Given the description of an element on the screen output the (x, y) to click on. 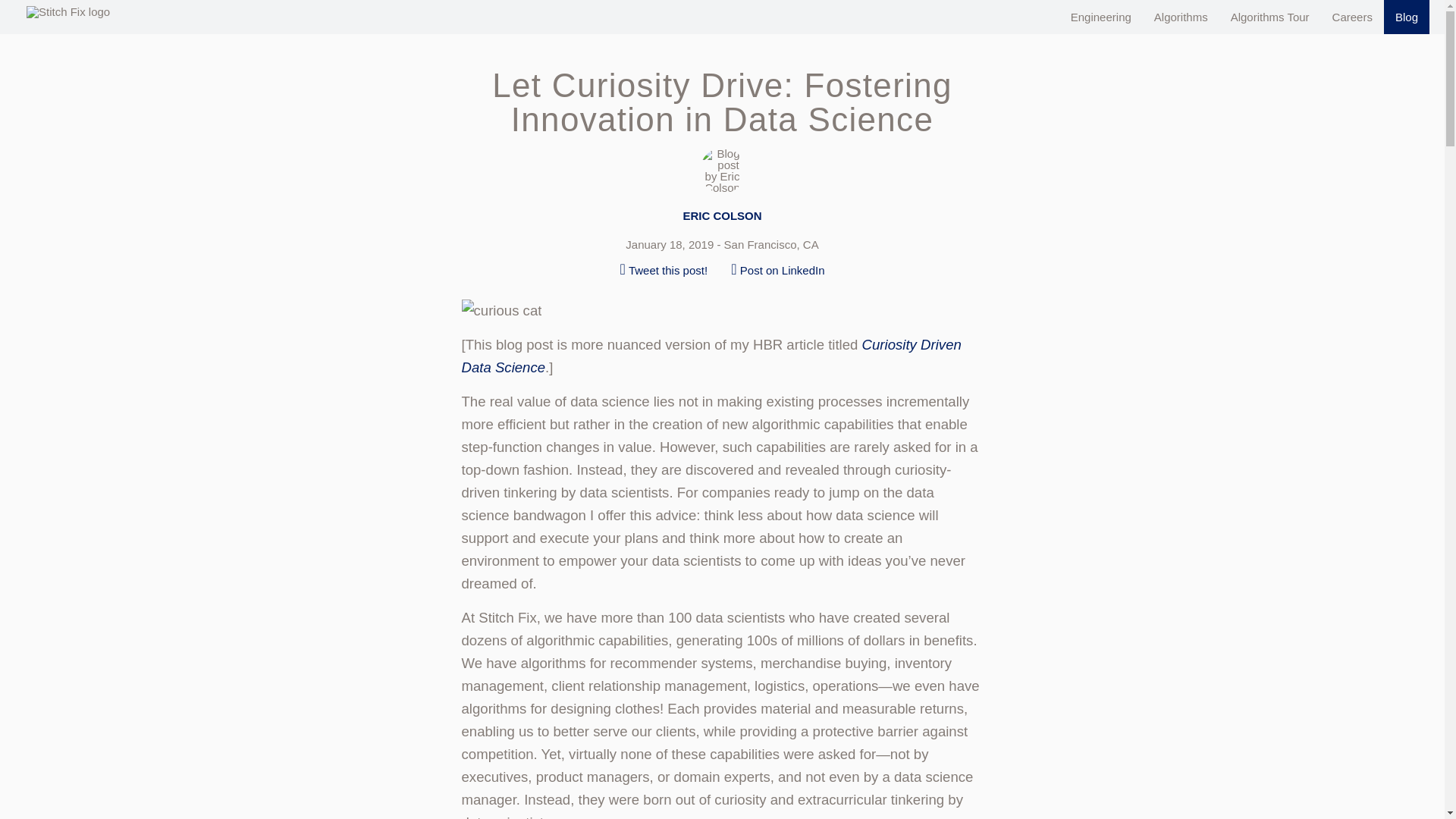
Tweet this post! (664, 269)
Blog (1406, 17)
Algorithms (1181, 17)
Post on LinkedIn (777, 269)
Engineering (1100, 17)
Careers (1352, 17)
Curiosity Driven Data Science (710, 355)
Algorithms Tour (1270, 17)
